Given the description of an element on the screen output the (x, y) to click on. 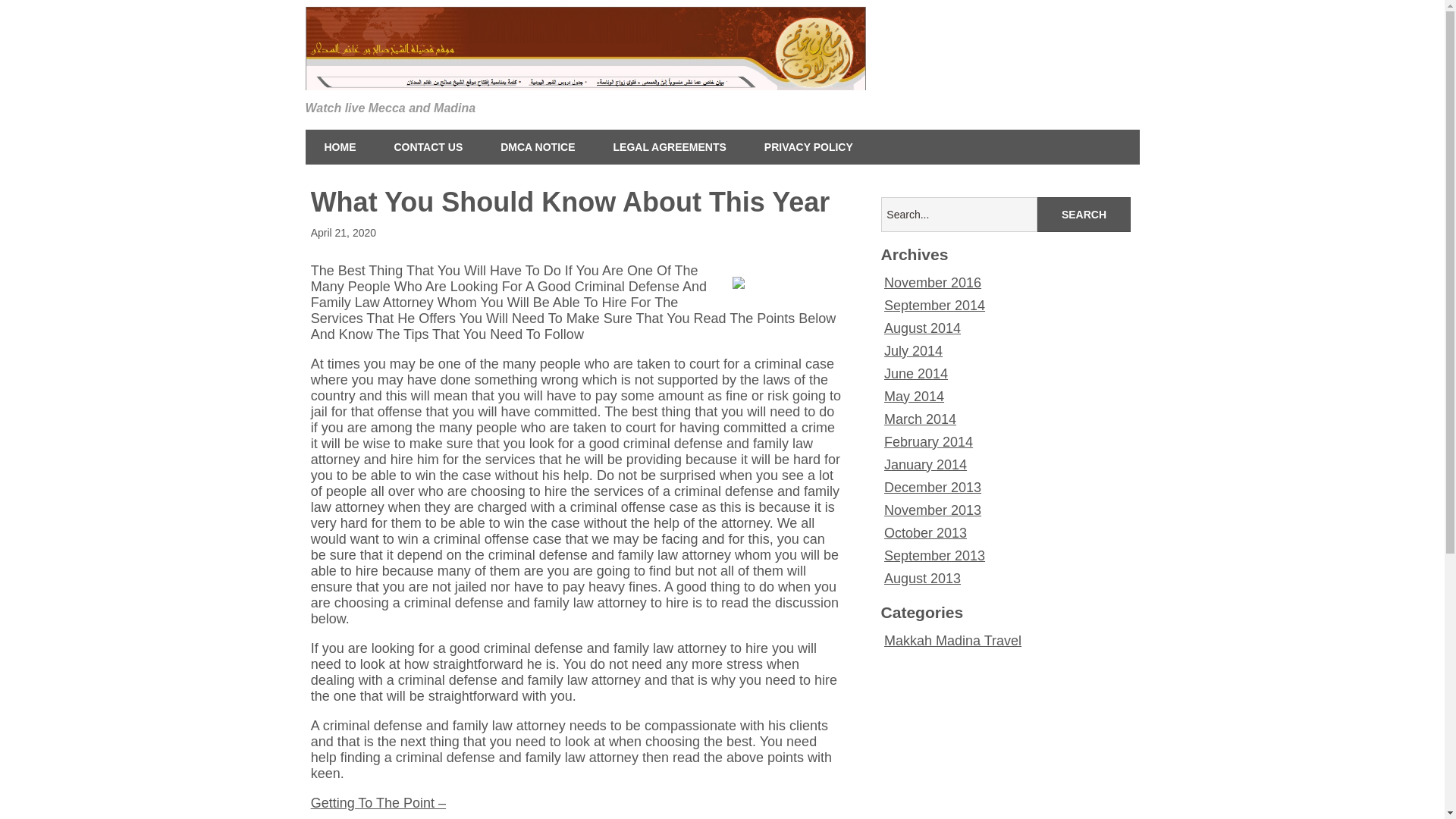
DMCA NOTICE (537, 146)
HOME (339, 146)
LEGAL AGREEMENTS (669, 146)
CONTACT US (427, 146)
